Given the description of an element on the screen output the (x, y) to click on. 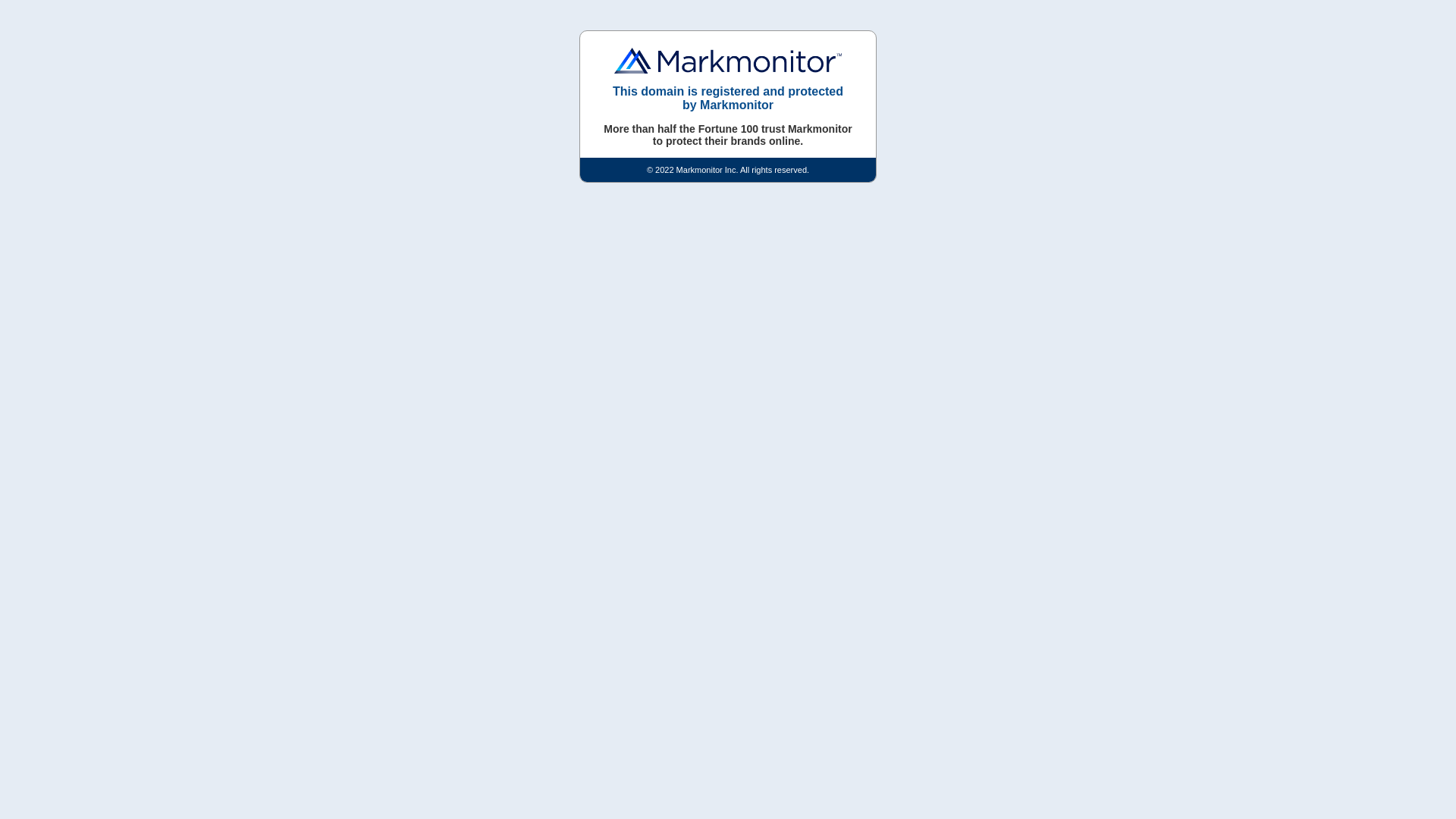
Markmonitor Element type: hover (727, 60)
